Given the description of an element on the screen output the (x, y) to click on. 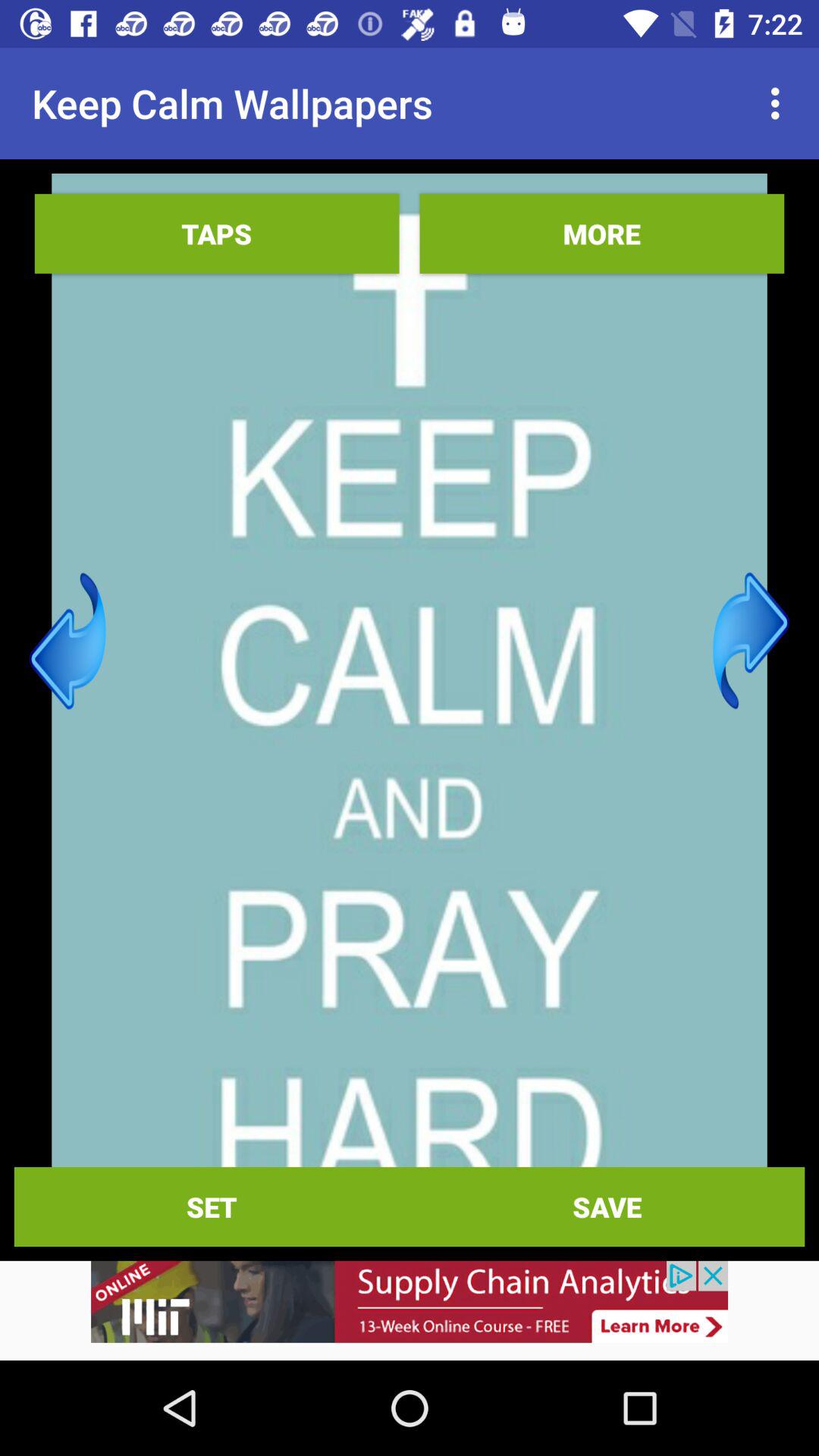
next (750, 640)
